Given the description of an element on the screen output the (x, y) to click on. 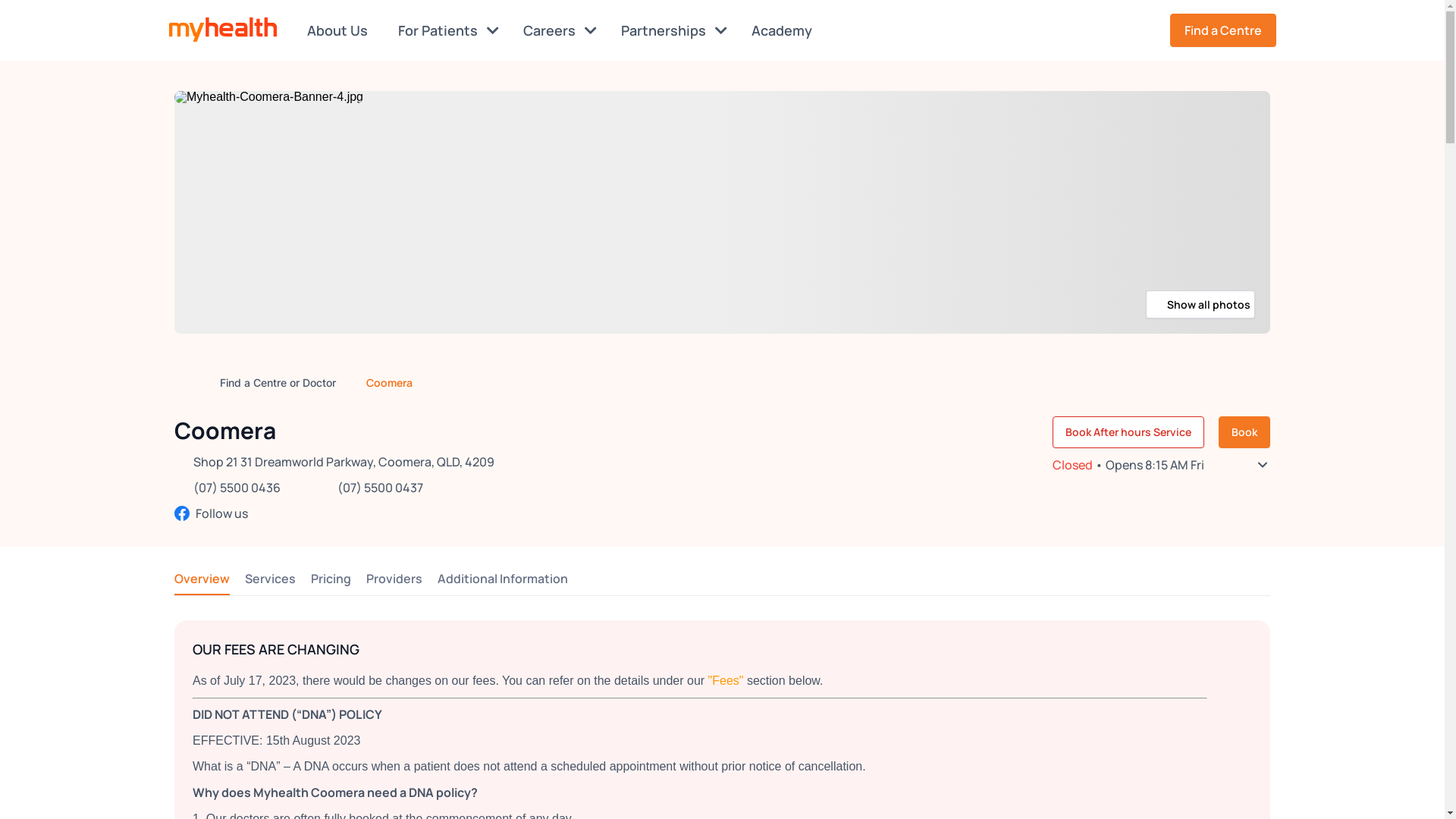
Follow us Element type: text (334, 513)
Book After hours Service Element type: text (1128, 432)
Pricing Element type: text (330, 578)
Careers Element type: text (559, 30)
"Fees" Element type: text (725, 680)
Overview Element type: text (201, 578)
For Patients Element type: text (447, 30)
Find a Centre or Doctor Element type: text (277, 381)
Show all photos Element type: text (1200, 304)
About Us Element type: text (339, 30)
Additional Information Element type: text (502, 578)
(07) 5500 0437 Element type: text (380, 487)
Shop 21 31 Dreamworld Parkway, Coomera, QLD, 4209 Element type: text (343, 461)
(07) 5500 0436 Element type: text (236, 487)
Find a Centre Element type: text (1222, 30)
Academy Element type: text (783, 30)
Partnerships Element type: text (673, 30)
Book Element type: text (1244, 432)
Providers Element type: text (394, 578)
Services Element type: text (269, 578)
